Given the description of an element on the screen output the (x, y) to click on. 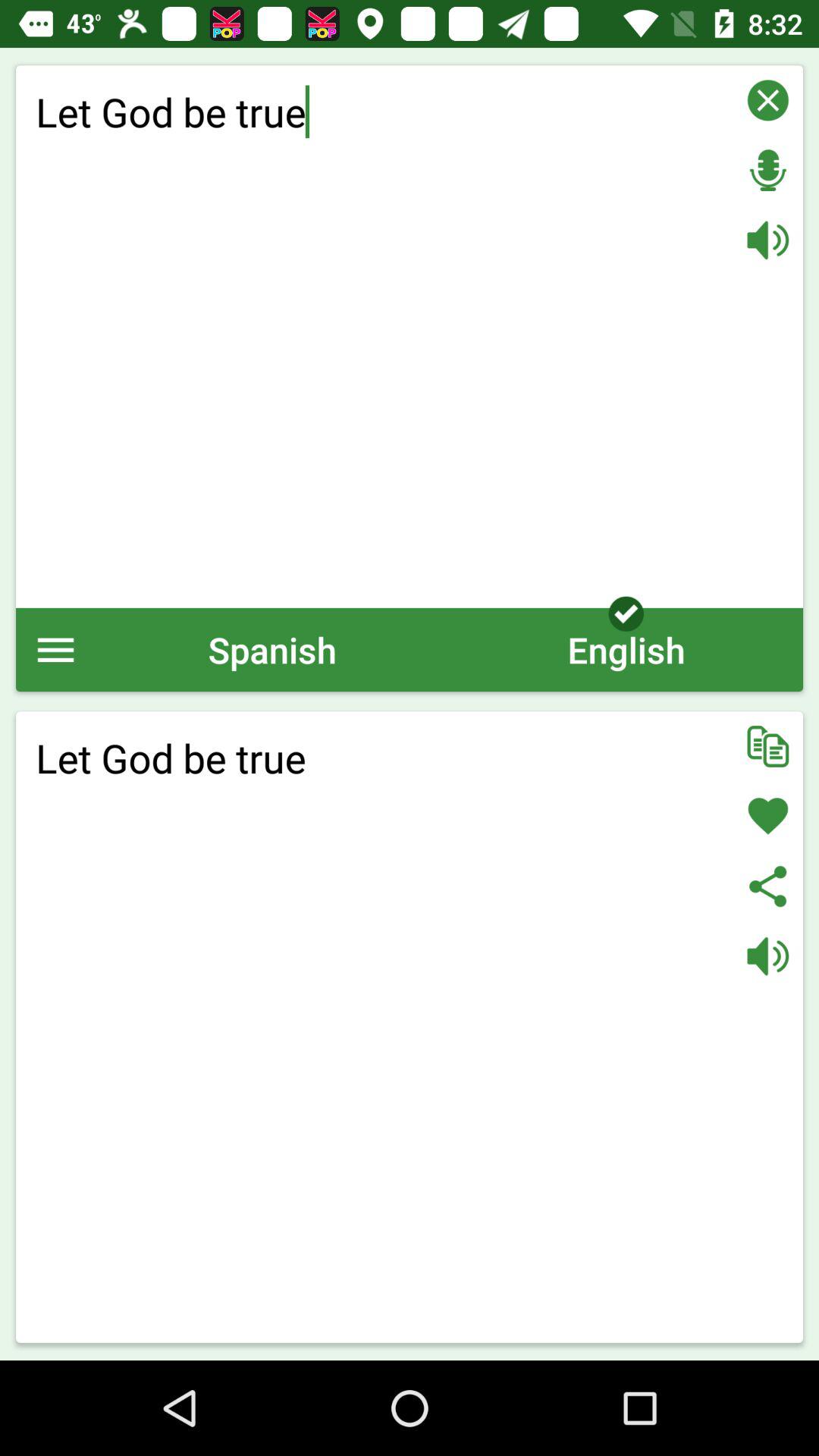
select the spanish icon (272, 649)
